Given the description of an element on the screen output the (x, y) to click on. 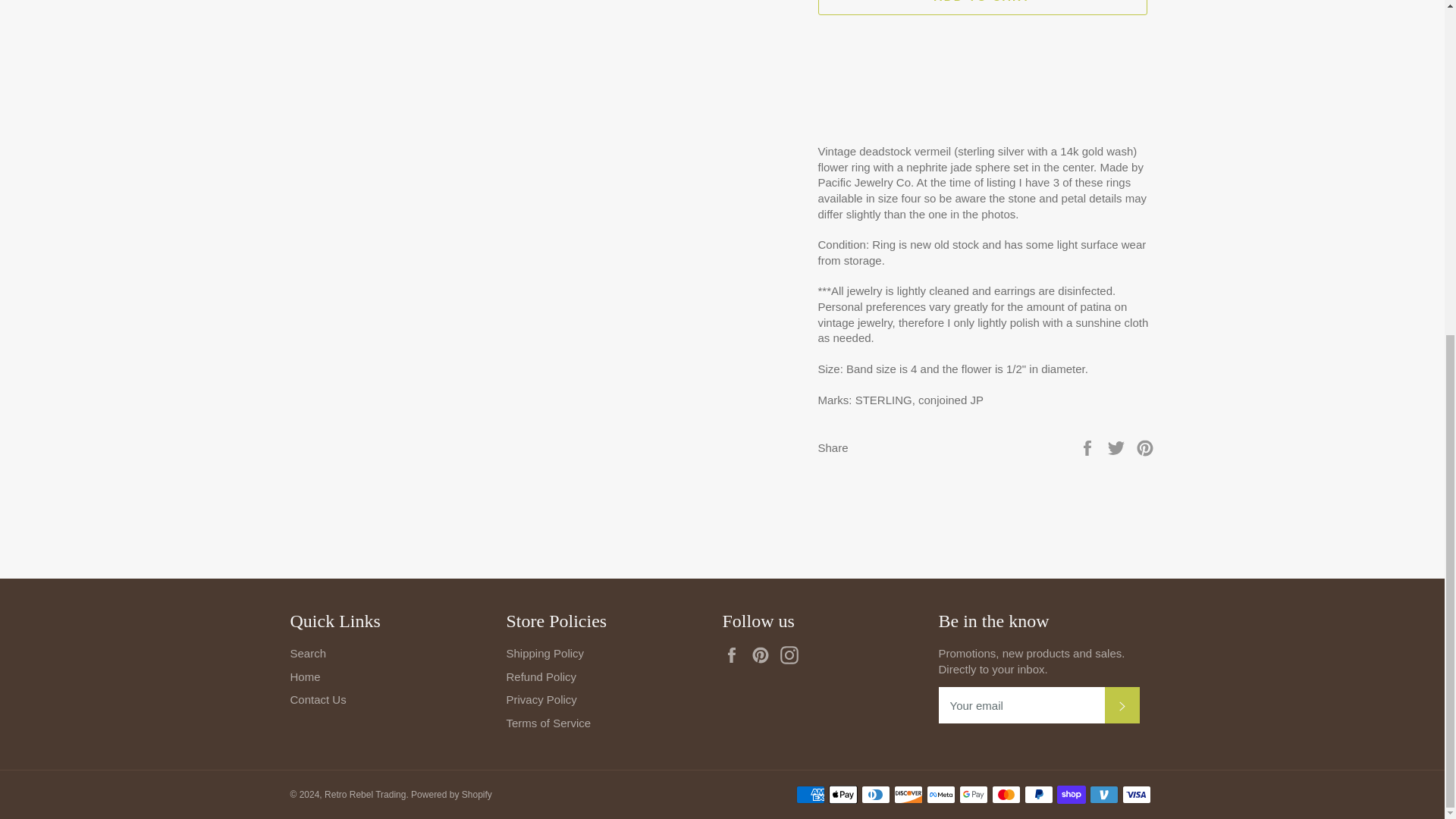
Retro Rebel Trading on Pinterest (764, 655)
Retro Rebel Trading on Instagram (793, 655)
Pin on Pinterest (1144, 446)
Tweet on Twitter (1117, 446)
Share on Facebook (1088, 446)
Retro Rebel Trading on Facebook (735, 655)
